Given the description of an element on the screen output the (x, y) to click on. 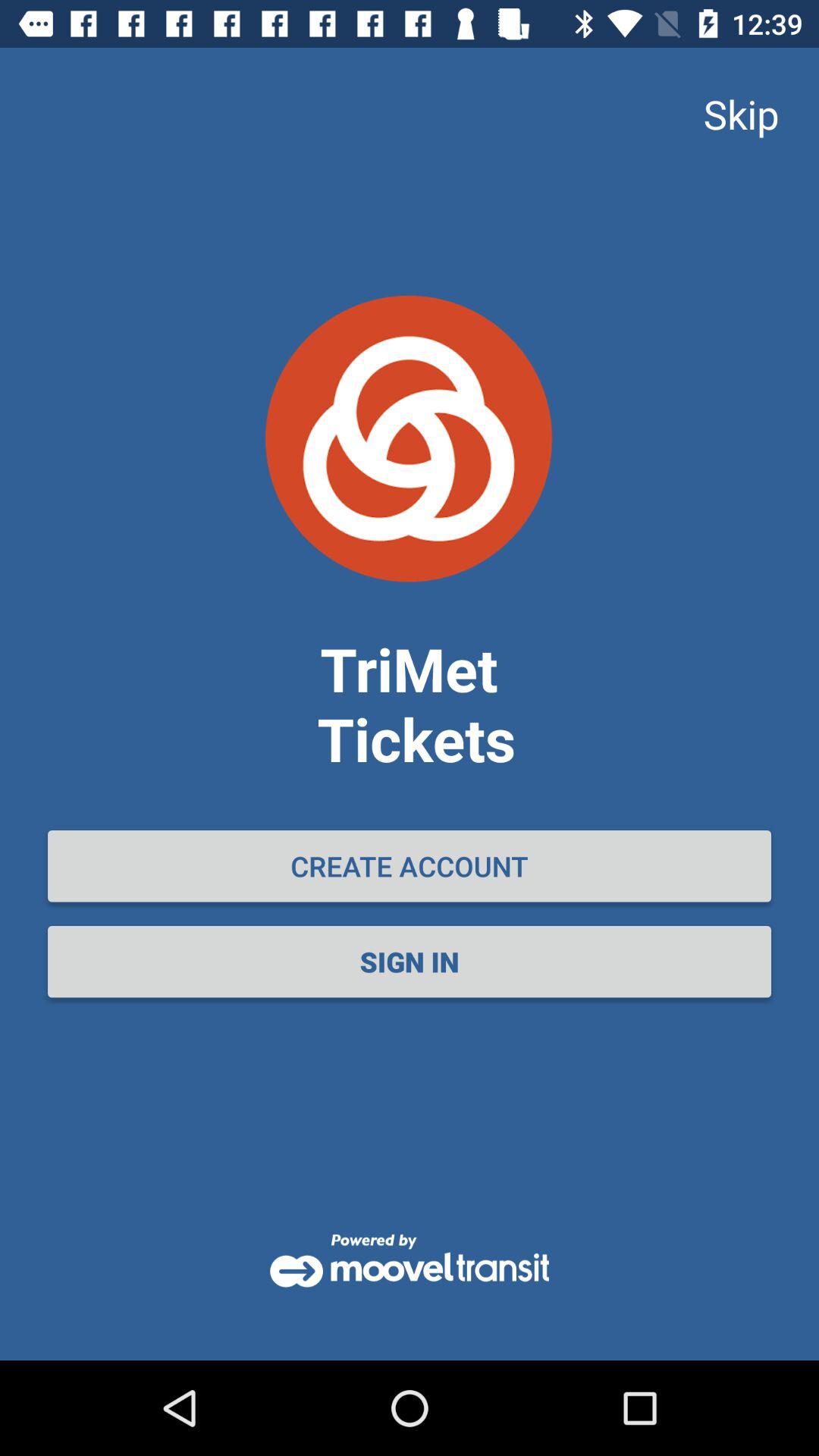
click the icon above the sign in (409, 865)
